Given the description of an element on the screen output the (x, y) to click on. 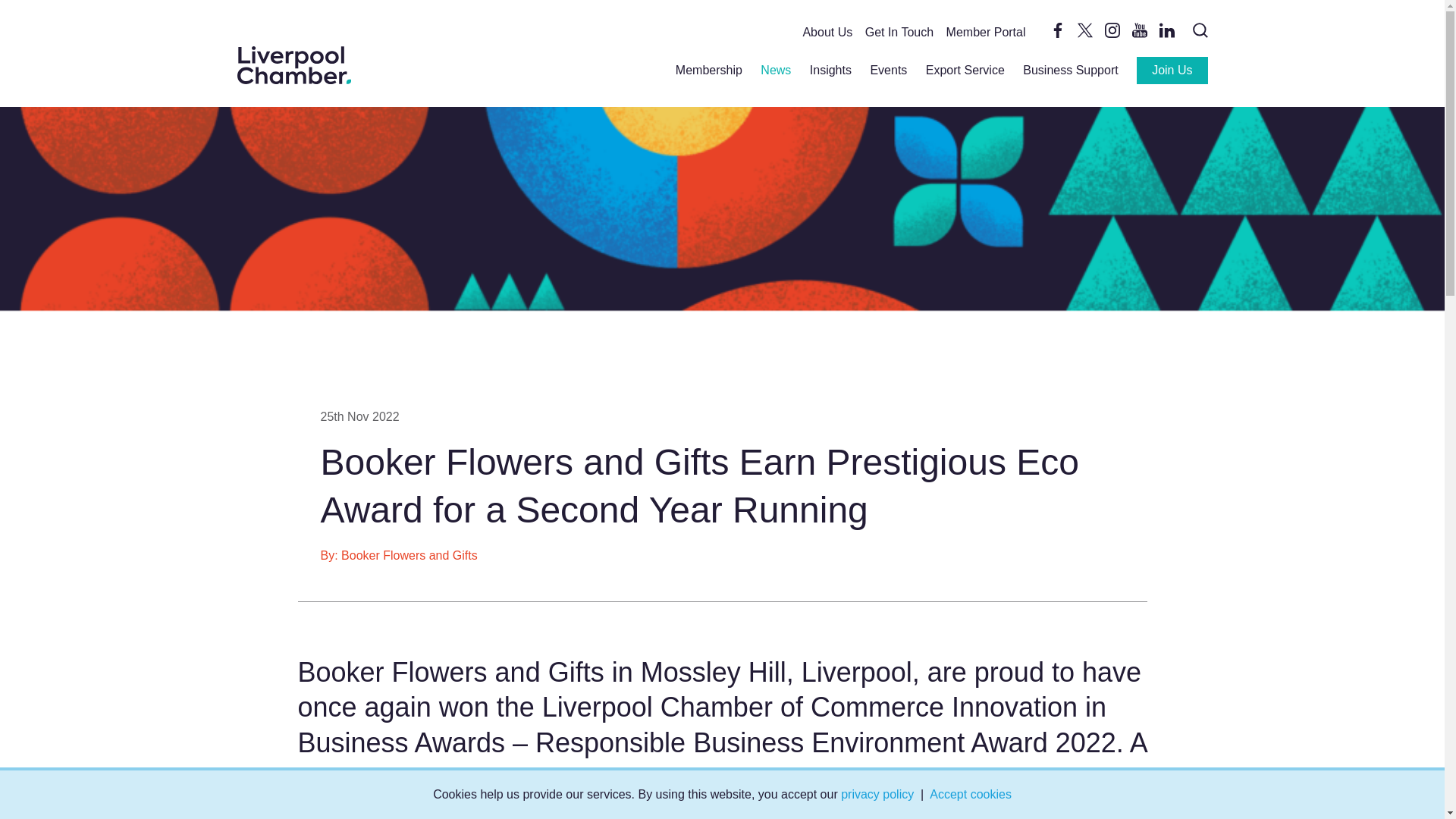
Join Us (1172, 70)
Business Support (1070, 70)
Insights (830, 70)
Events (888, 70)
News (775, 70)
Membership (708, 70)
Member Portal (986, 31)
Get In Touch (898, 31)
Export Service (965, 70)
Go to Liverpool Chamber of Commerce homepage (292, 64)
